Given the description of an element on the screen output the (x, y) to click on. 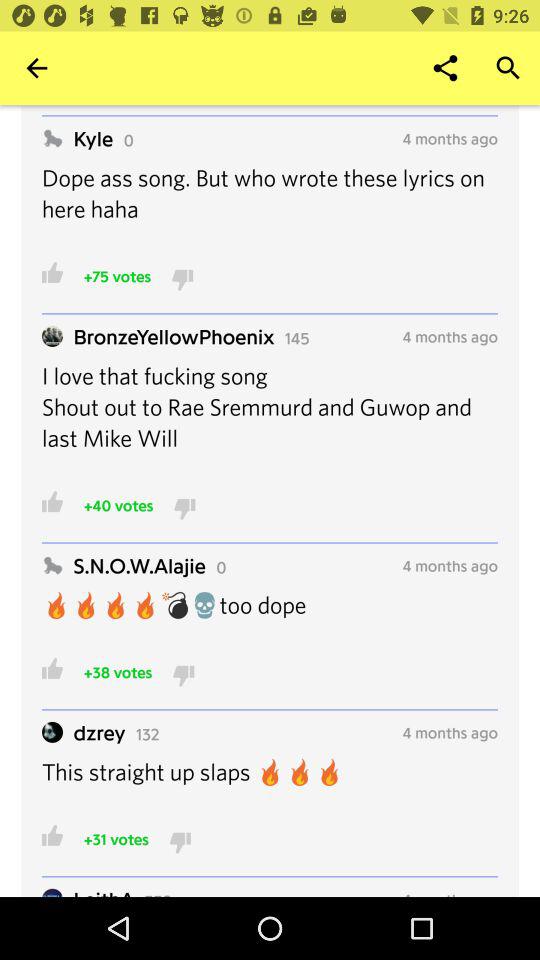
click +40 votes item (118, 505)
